Given the description of an element on the screen output the (x, y) to click on. 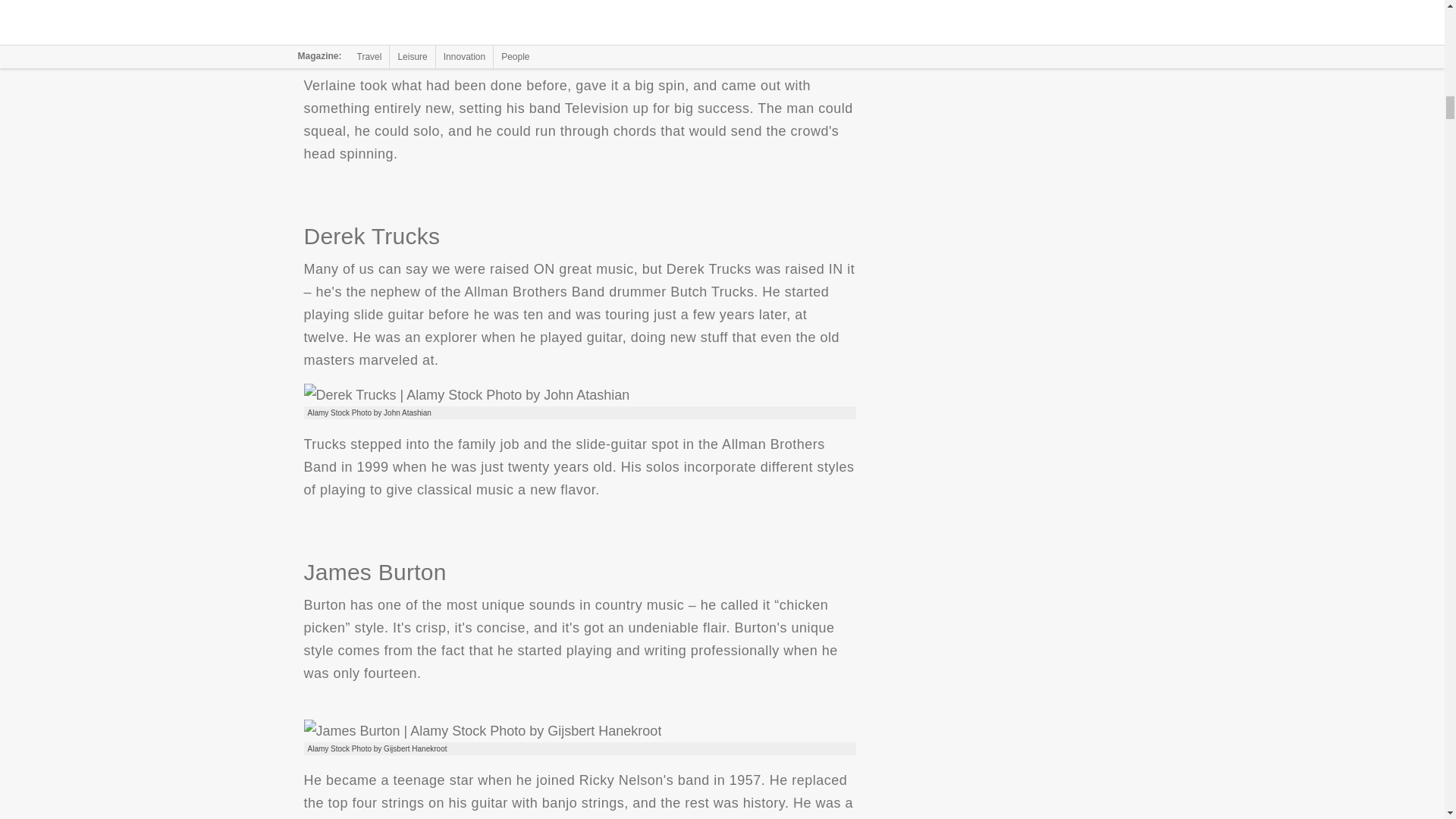
Tom Verlaine (461, 36)
James Burton (481, 730)
Derek Trucks (465, 395)
